Given the description of an element on the screen output the (x, y) to click on. 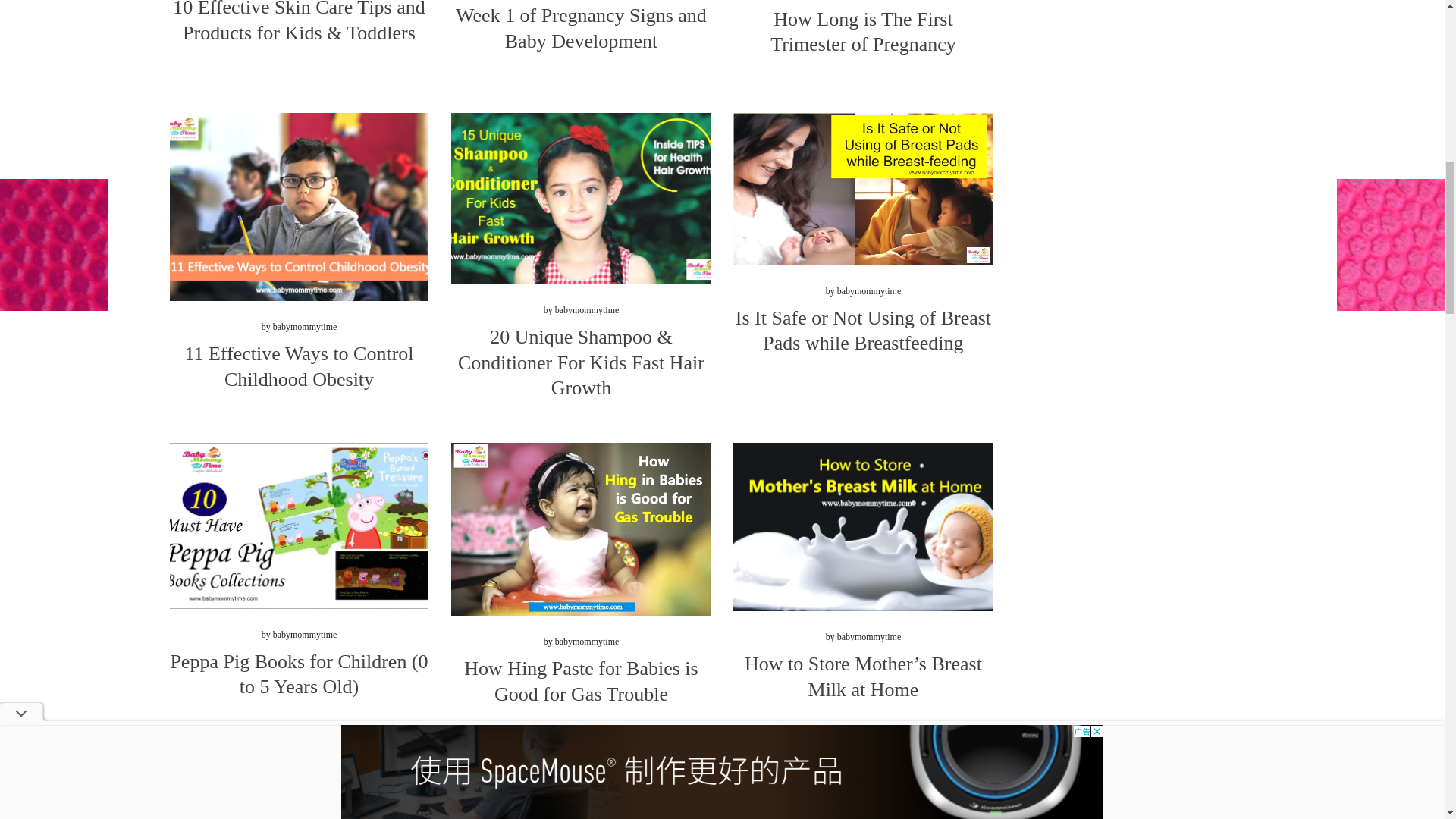
babymommytime (869, 290)
Is It Safe or Not Using of Breast Pads while Breastfeeding (863, 330)
11 Effective Ways to Control Childhood Obesity (298, 366)
Week 1 of Pregnancy Signs and Baby Development (580, 28)
Advertisement (1145, 67)
babymommytime (587, 309)
babymommytime (305, 326)
babymommytime (305, 634)
How Long is The First Trimester of Pregnancy (863, 32)
